Given the description of an element on the screen output the (x, y) to click on. 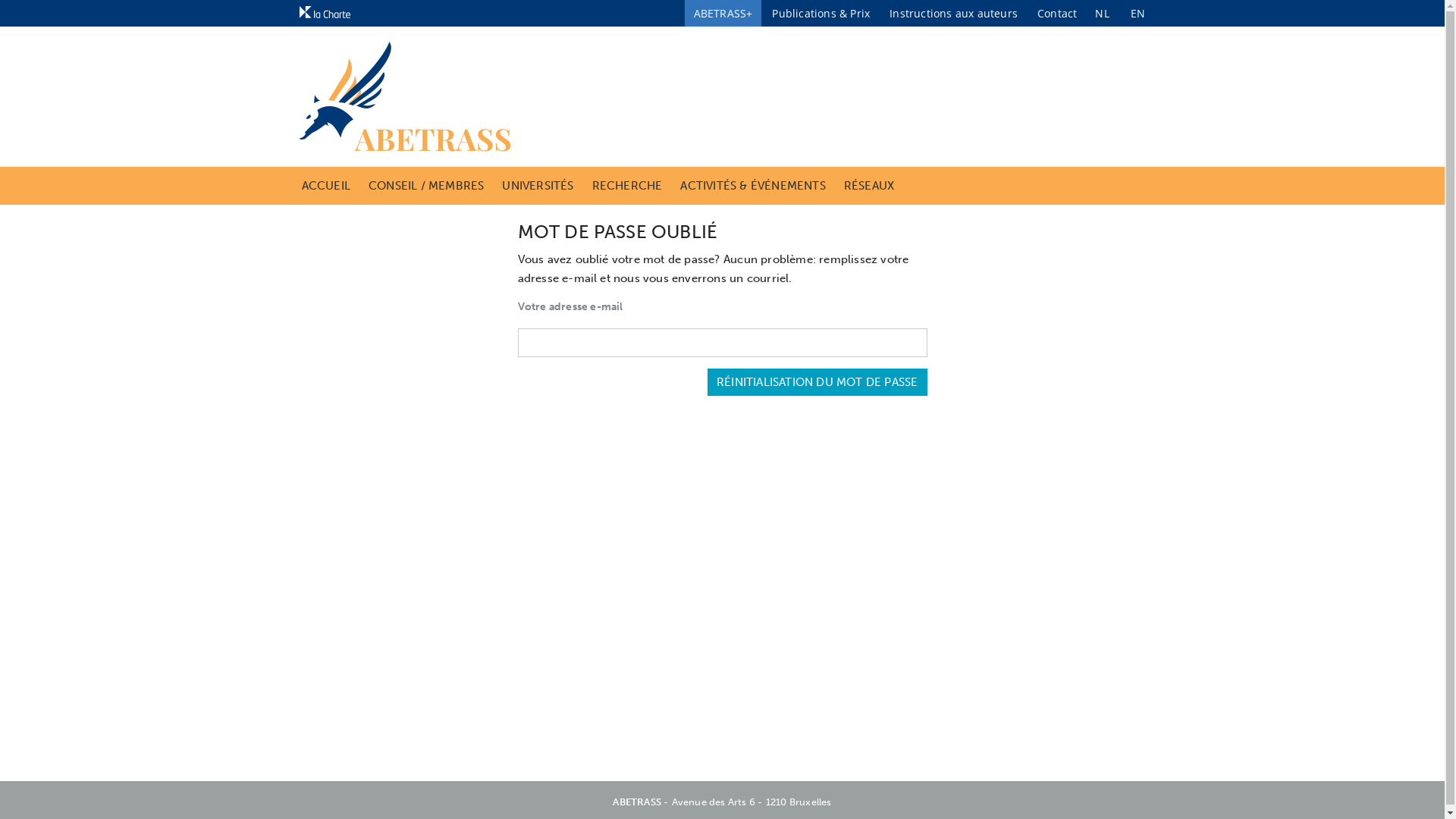
RECHERCHE Element type: text (627, 185)
CONSEIL / MEMBRES Element type: text (425, 185)
NL Element type: text (1101, 13)
EN Element type: text (1137, 13)
Publications & Prix Element type: text (820, 13)
Contact Element type: text (1056, 13)
Instructions aux auteurs Element type: text (953, 13)
ACCUEIL Element type: text (325, 185)
ABETRASS+ Element type: text (723, 13)
